Given the description of an element on the screen output the (x, y) to click on. 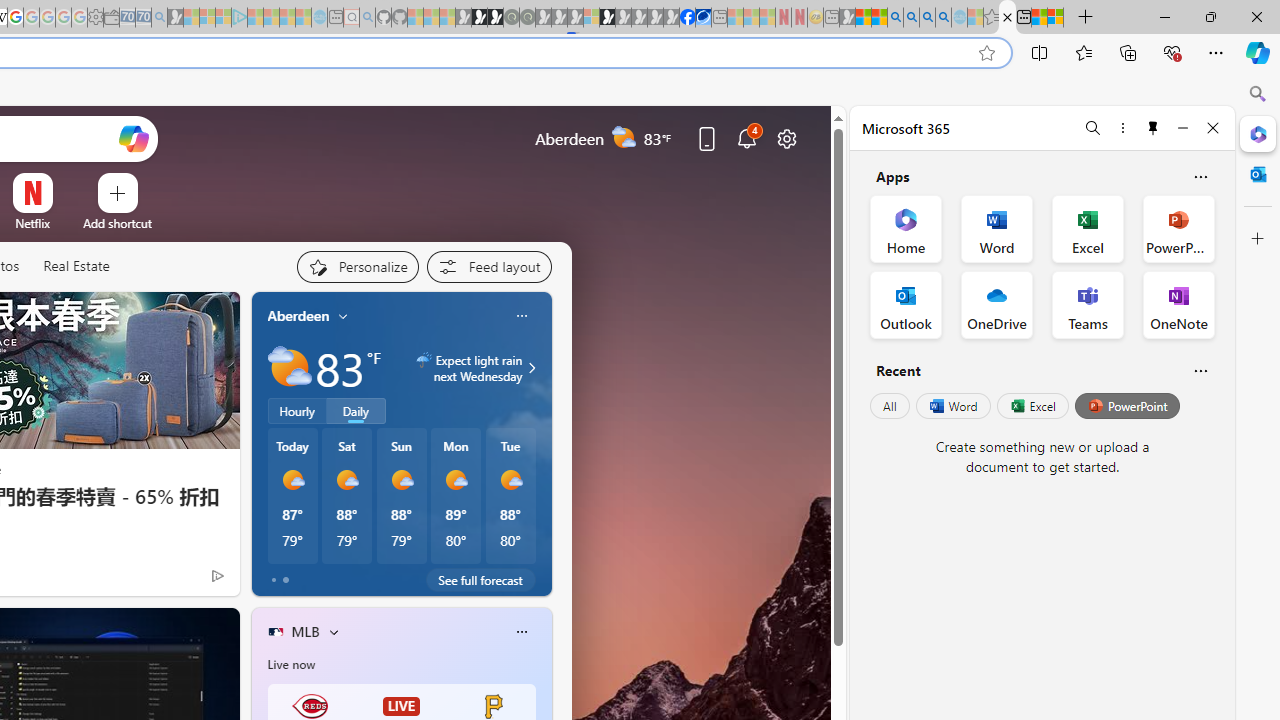
Close Microsoft 365 pane (1258, 133)
OneDrive Office App (996, 304)
Word (952, 406)
See full forecast (480, 579)
